Given the description of an element on the screen output the (x, y) to click on. 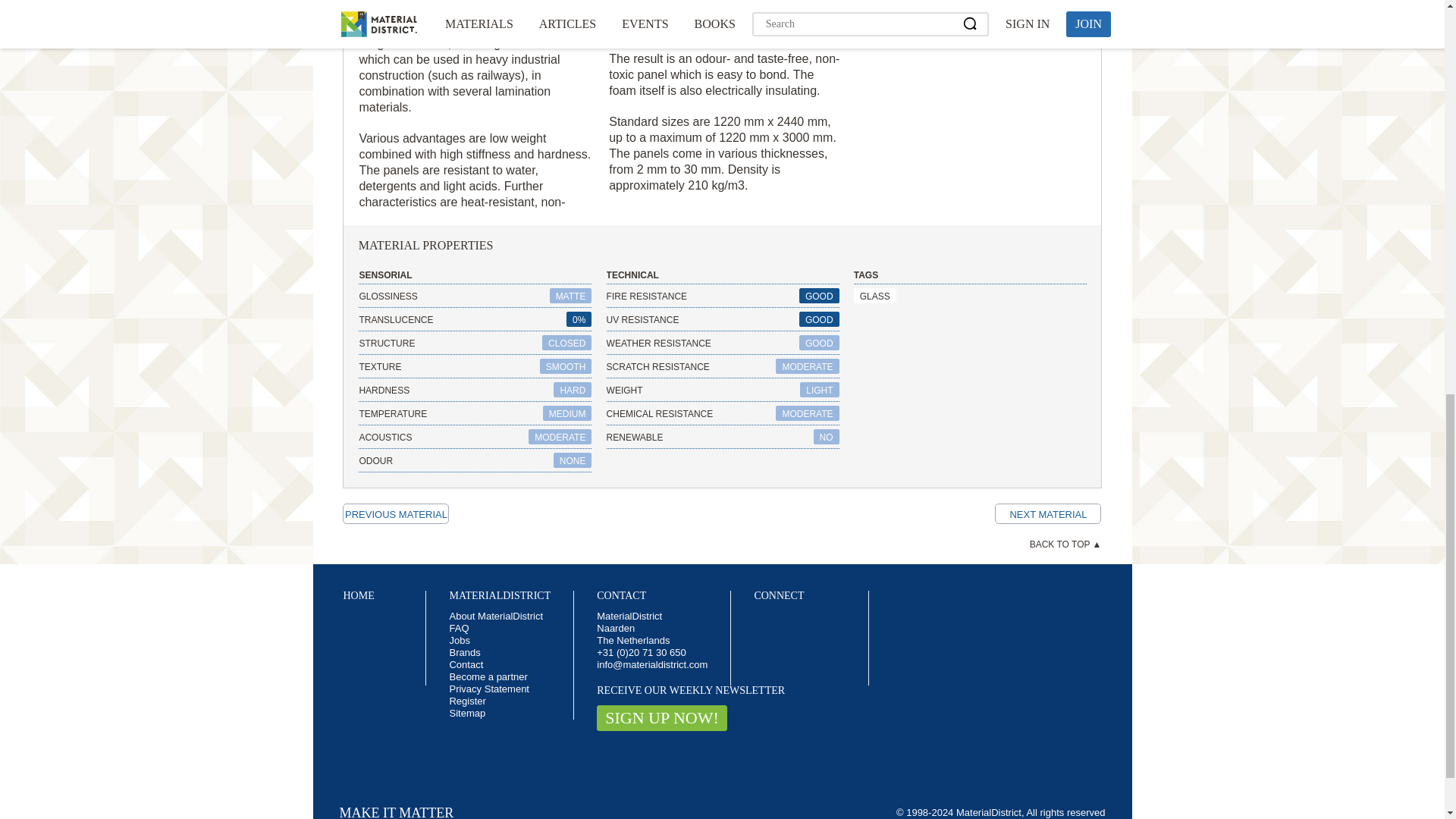
MODERATE (807, 365)
SMOOTH (566, 365)
MODERATE (559, 436)
MEDIUM (567, 412)
MATTE (571, 295)
CLOSED (566, 342)
GOOD (819, 319)
Home (358, 595)
GOOD (819, 295)
Net Effect (1047, 513)
